Given the description of an element on the screen output the (x, y) to click on. 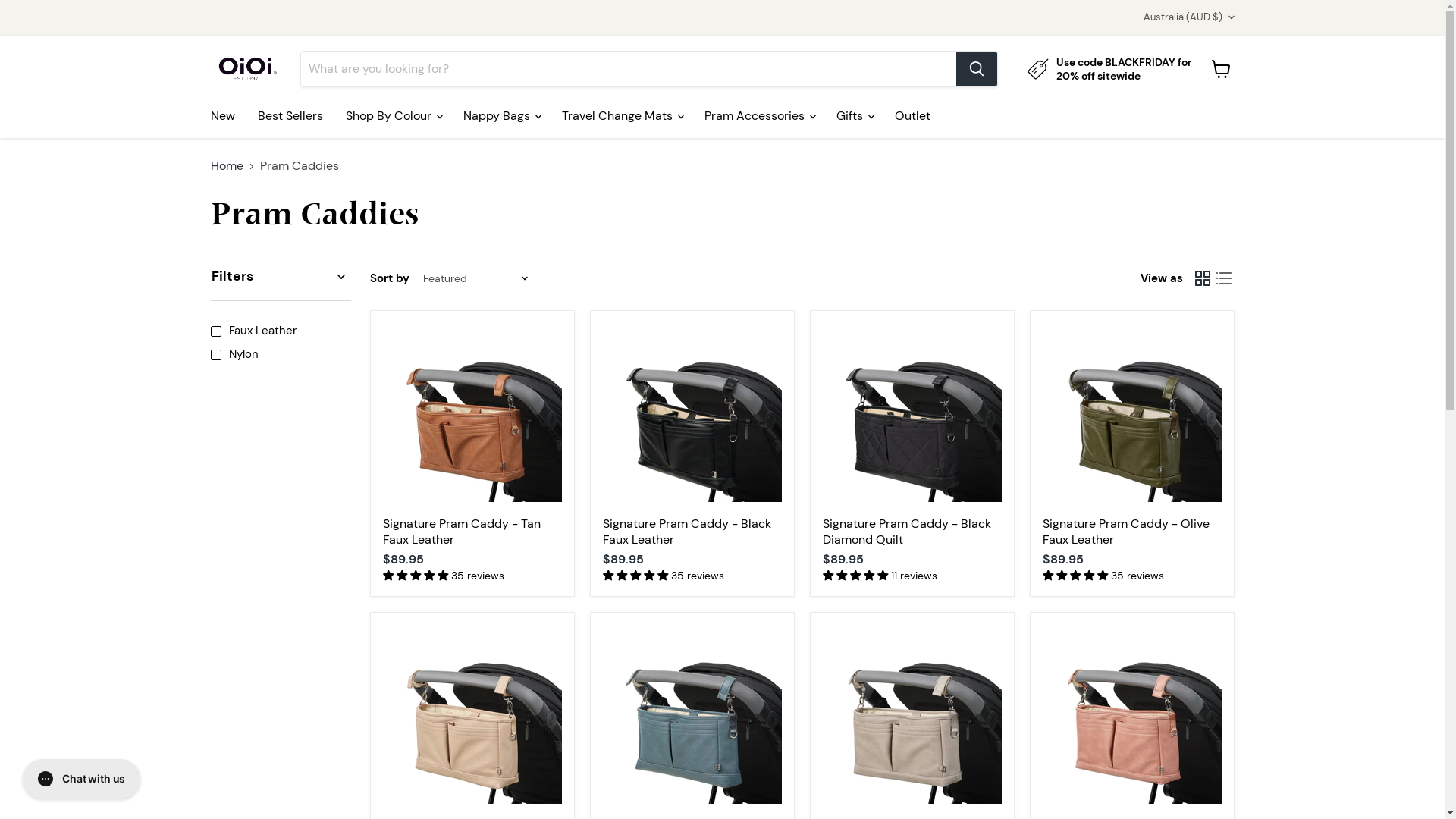
Signature Pram Caddy - Black Faux Leather Element type: text (686, 531)
View cart Element type: text (1221, 68)
Signature Pram Caddy - Tan Faux Leather Element type: text (460, 531)
Faux Leather Element type: text (278, 330)
New Element type: text (221, 115)
Australia (AUD $) Element type: text (1185, 17)
Gorgias live chat messenger Element type: hover (81, 778)
Home Element type: text (226, 165)
Best Sellers Element type: text (289, 115)
Nylon Element type: text (278, 354)
Outlet Element type: text (911, 115)
Filters Element type: text (280, 276)
Signature Pram Caddy - Black Diamond Quilt Element type: text (906, 531)
Signature Pram Caddy - Olive Faux Leather Element type: text (1124, 531)
